Given the description of an element on the screen output the (x, y) to click on. 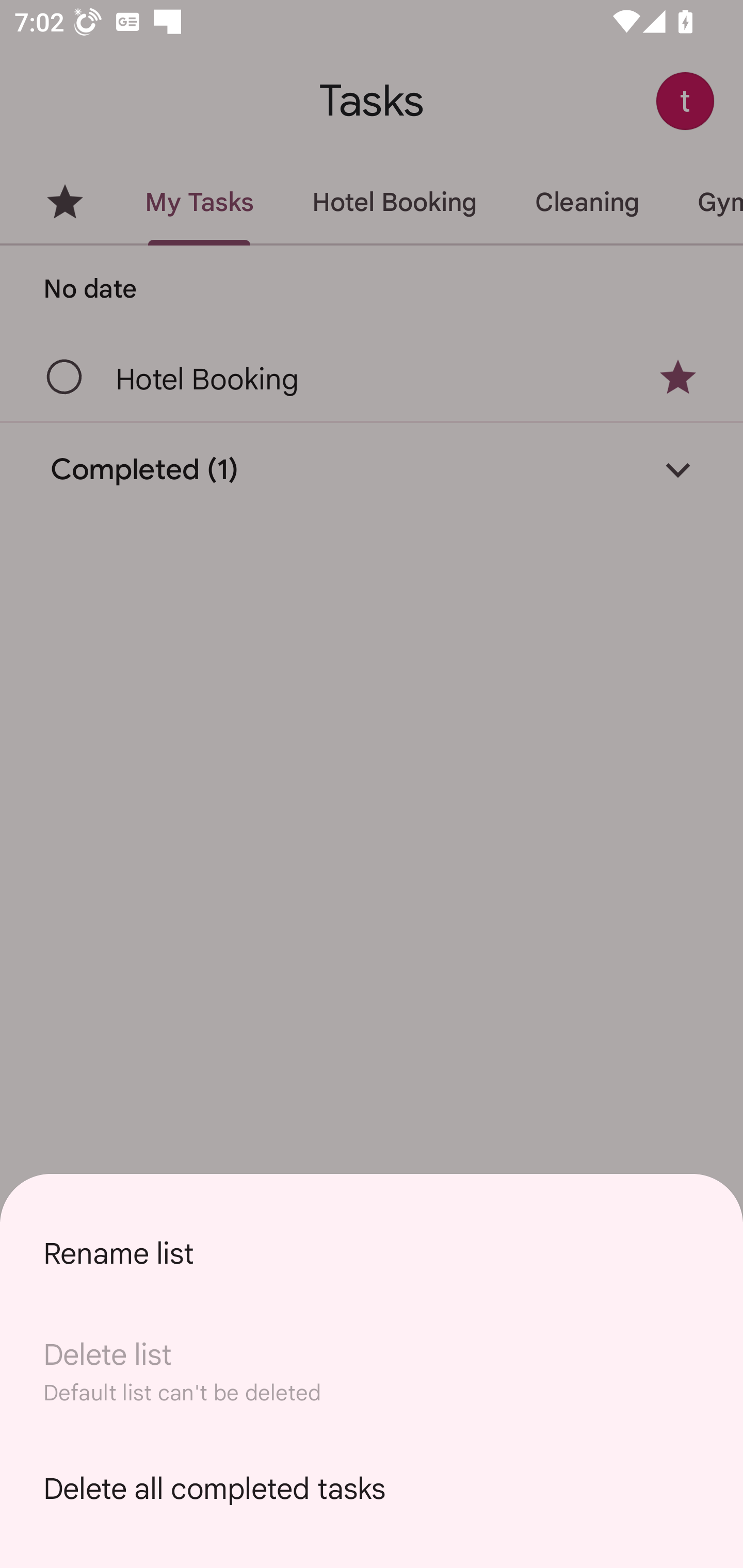
Rename list (371, 1253)
Delete list Default list can't be deleted (371, 1370)
Delete all completed tasks (371, 1488)
